Given the description of an element on the screen output the (x, y) to click on. 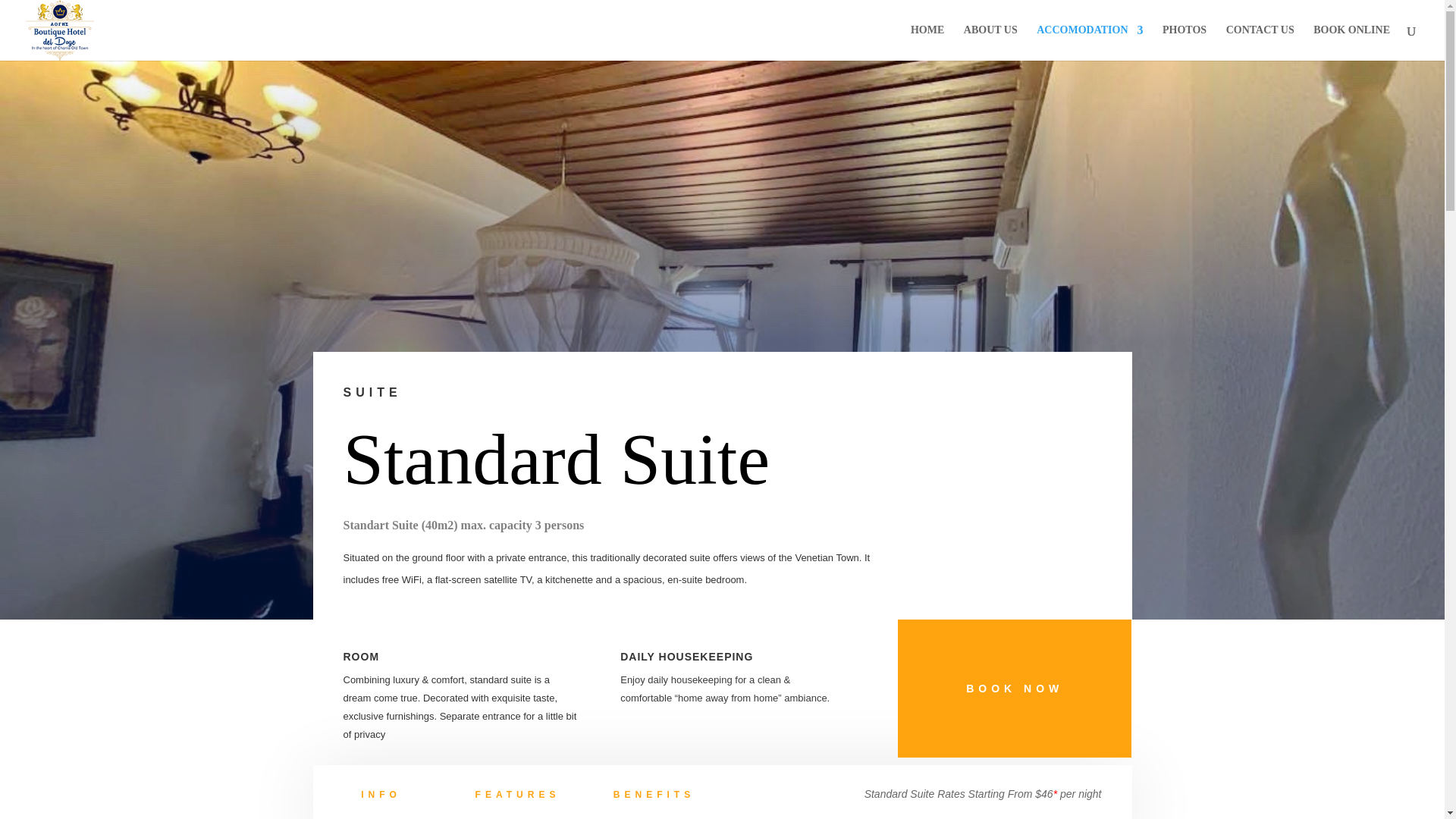
ACCOMODATION (1089, 42)
ABOUT US (990, 42)
BOOK ONLINE (1351, 42)
CONTACT US (1259, 42)
HOME (927, 42)
PHOTOS (1184, 42)
